Given the description of an element on the screen output the (x, y) to click on. 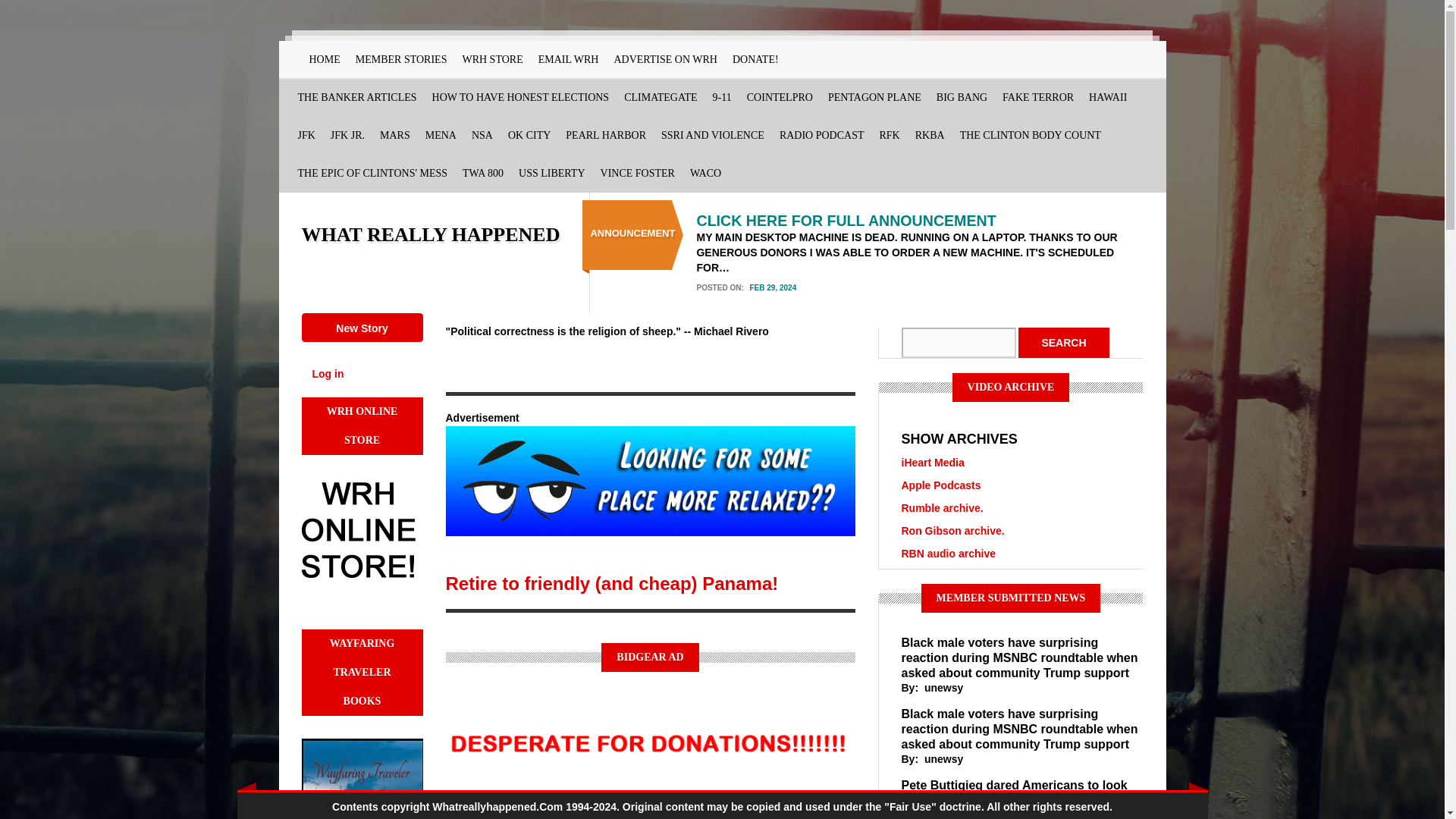
HOME (324, 59)
ADVERTISE ON WRH (665, 59)
SSRI AND VIOLENCE (712, 135)
BIG BANG (961, 97)
RFK (889, 135)
9-11 (721, 97)
HAWAII (1107, 97)
TWA 800 (482, 173)
THE EPIC OF CLINTONS' MESS (371, 173)
Search (1062, 342)
HOW TO HAVE HONEST ELECTIONS (521, 97)
OK CITY (528, 135)
Home (430, 234)
COINTELPRO (780, 97)
